Given the description of an element on the screen output the (x, y) to click on. 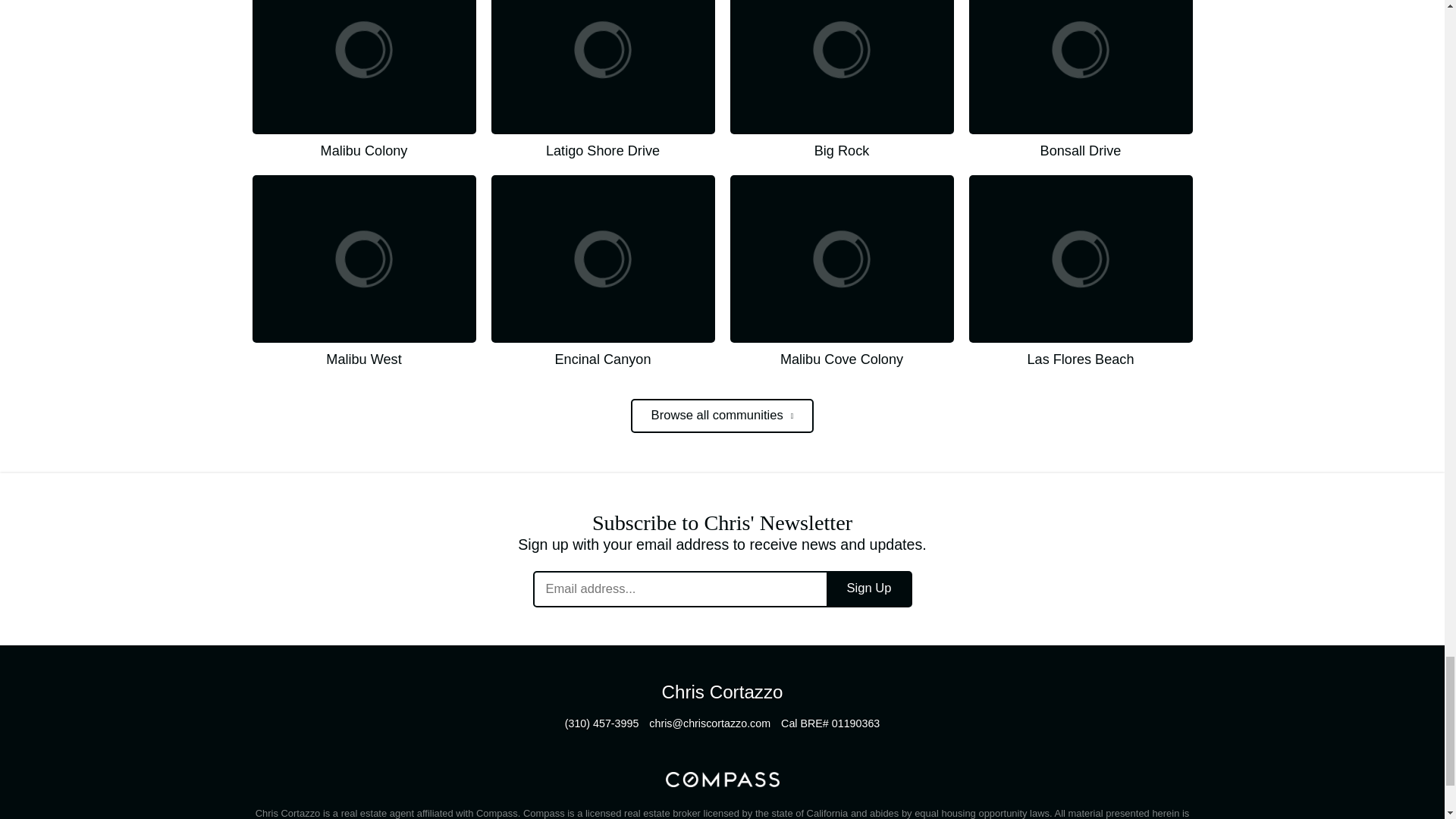
Encinal Canyon (603, 271)
Malibu West (363, 271)
Latigo Shore Drive (603, 79)
Bonsall Drive (1080, 79)
Big Rock (841, 79)
Malibu Colony (363, 79)
Malibu Cove Colony (841, 271)
Las Flores Beach (1080, 271)
